Given the description of an element on the screen output the (x, y) to click on. 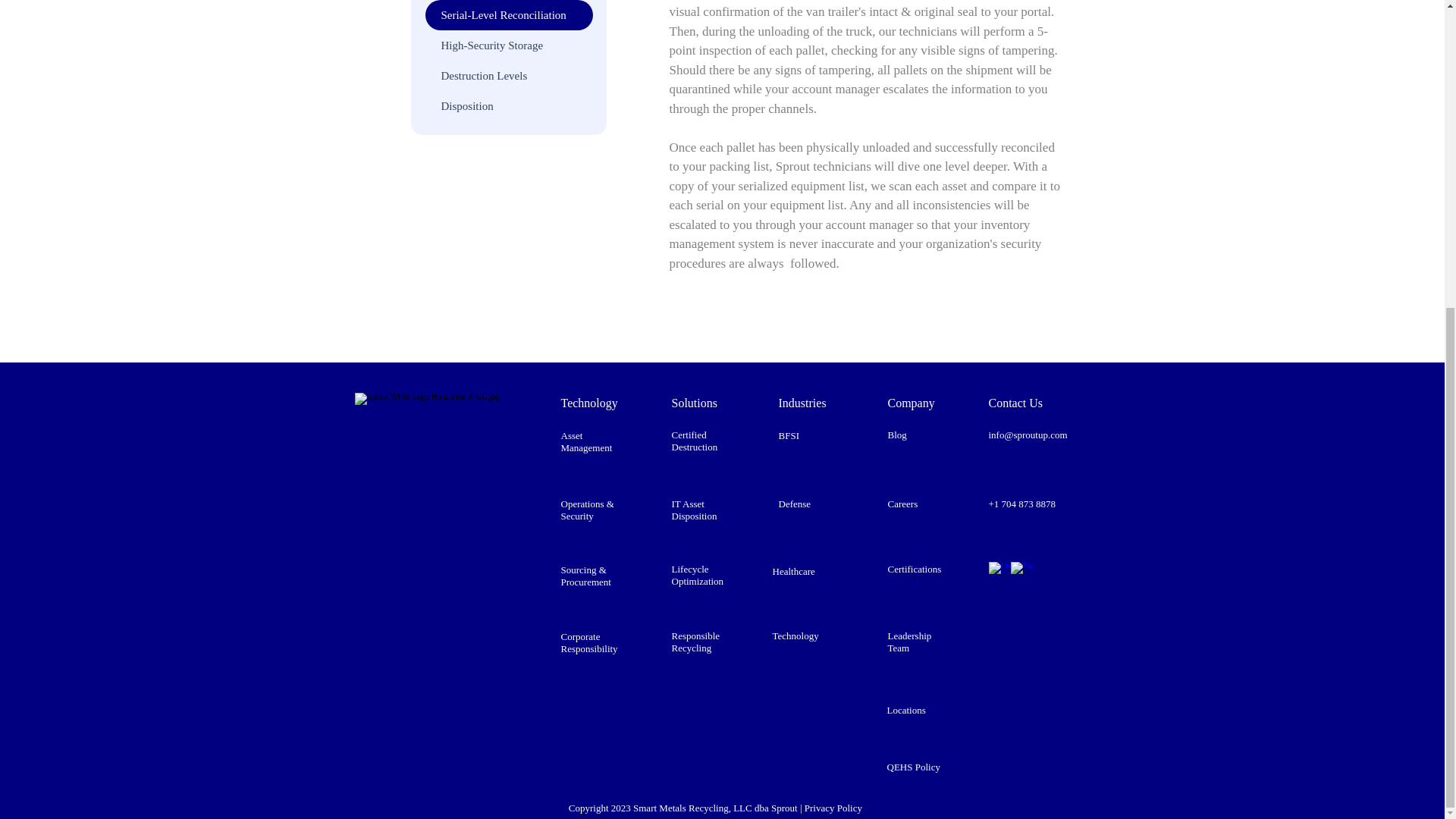
Solutions (694, 402)
Industries (801, 402)
Serial-Level Reconciliation (508, 15)
Destruction Levels (508, 75)
Company (910, 402)
BFSI (787, 435)
Disposition (508, 105)
Contact Us (1015, 402)
Blog (895, 434)
